Given the description of an element on the screen output the (x, y) to click on. 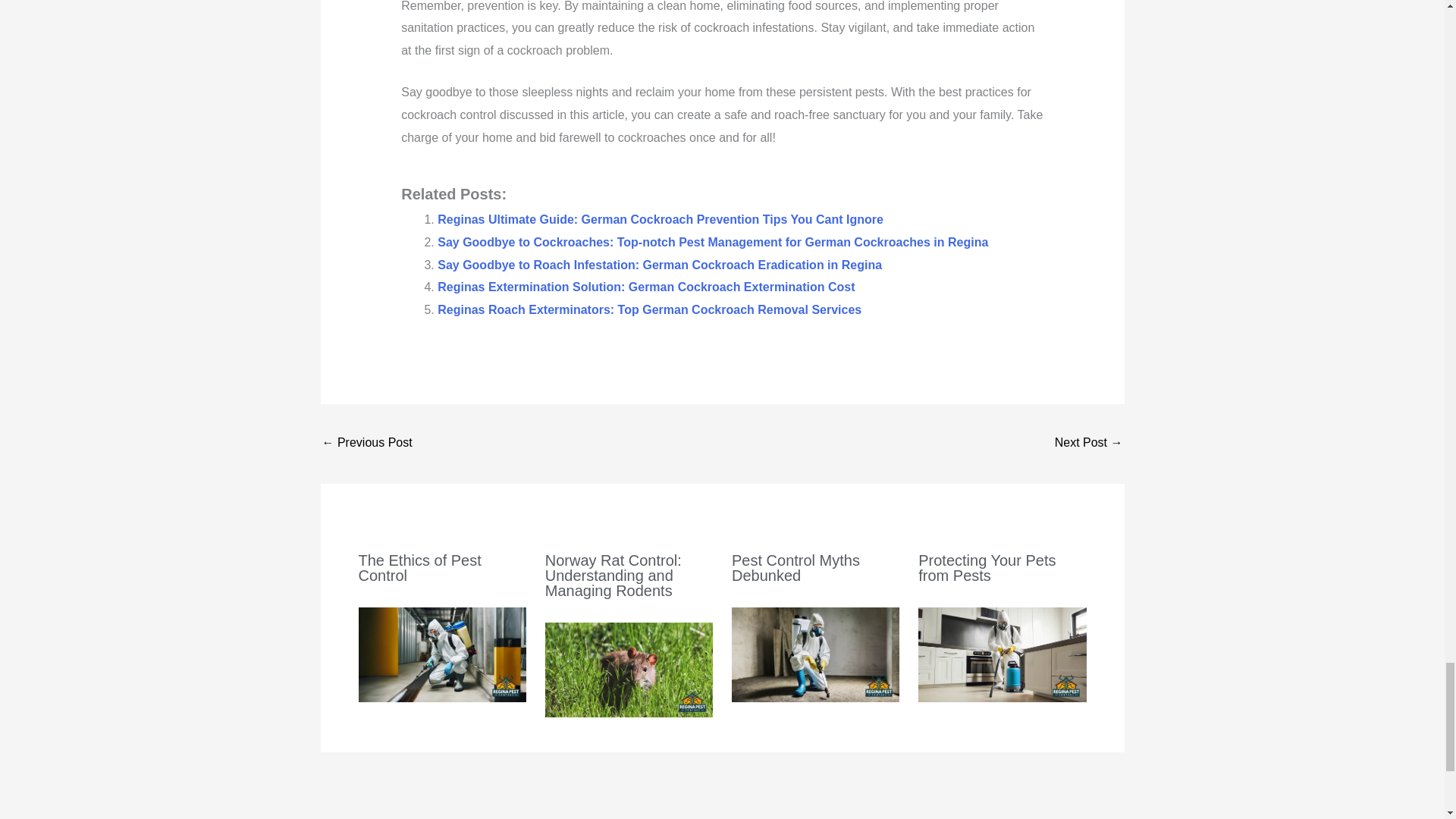
The Ethics of Pest Control (419, 567)
Norway Rat Control: Understanding and Managing Rodents (612, 575)
Silverfish Infestation: Identification and Control (1088, 443)
Carpenter Ant Removal: Techniques for Homeowners (366, 443)
Pest Control Myths Debunked (796, 567)
Protecting Your Pets from Pests (986, 567)
